Given the description of an element on the screen output the (x, y) to click on. 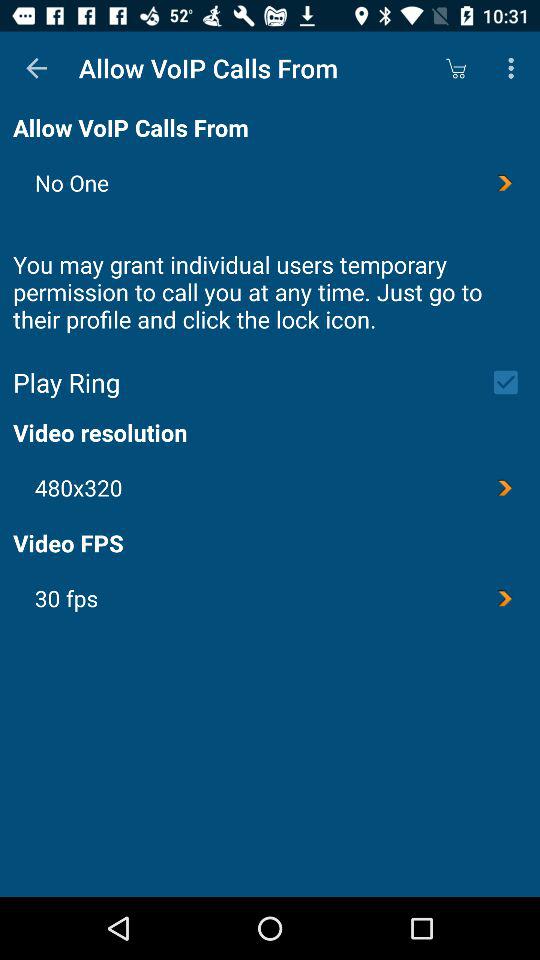
play ring activated (512, 382)
